Given the description of an element on the screen output the (x, y) to click on. 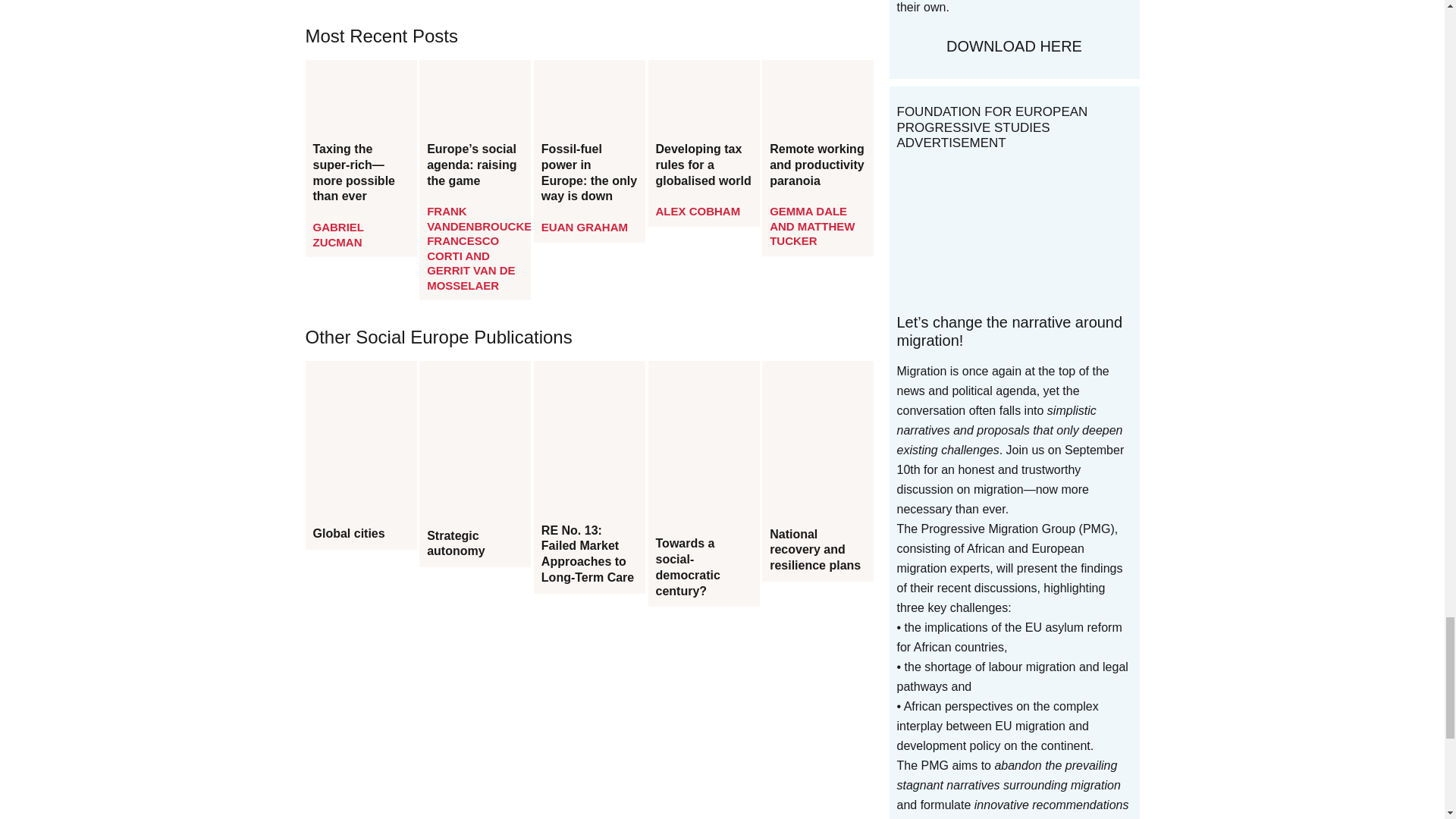
GABRIEL ZUCMAN (337, 234)
Gemma Dale and Matthew Tucker (812, 225)
Alex Cobham (698, 210)
Gabriel Zucman (337, 234)
Euan Graham (584, 226)
